Given the description of an element on the screen output the (x, y) to click on. 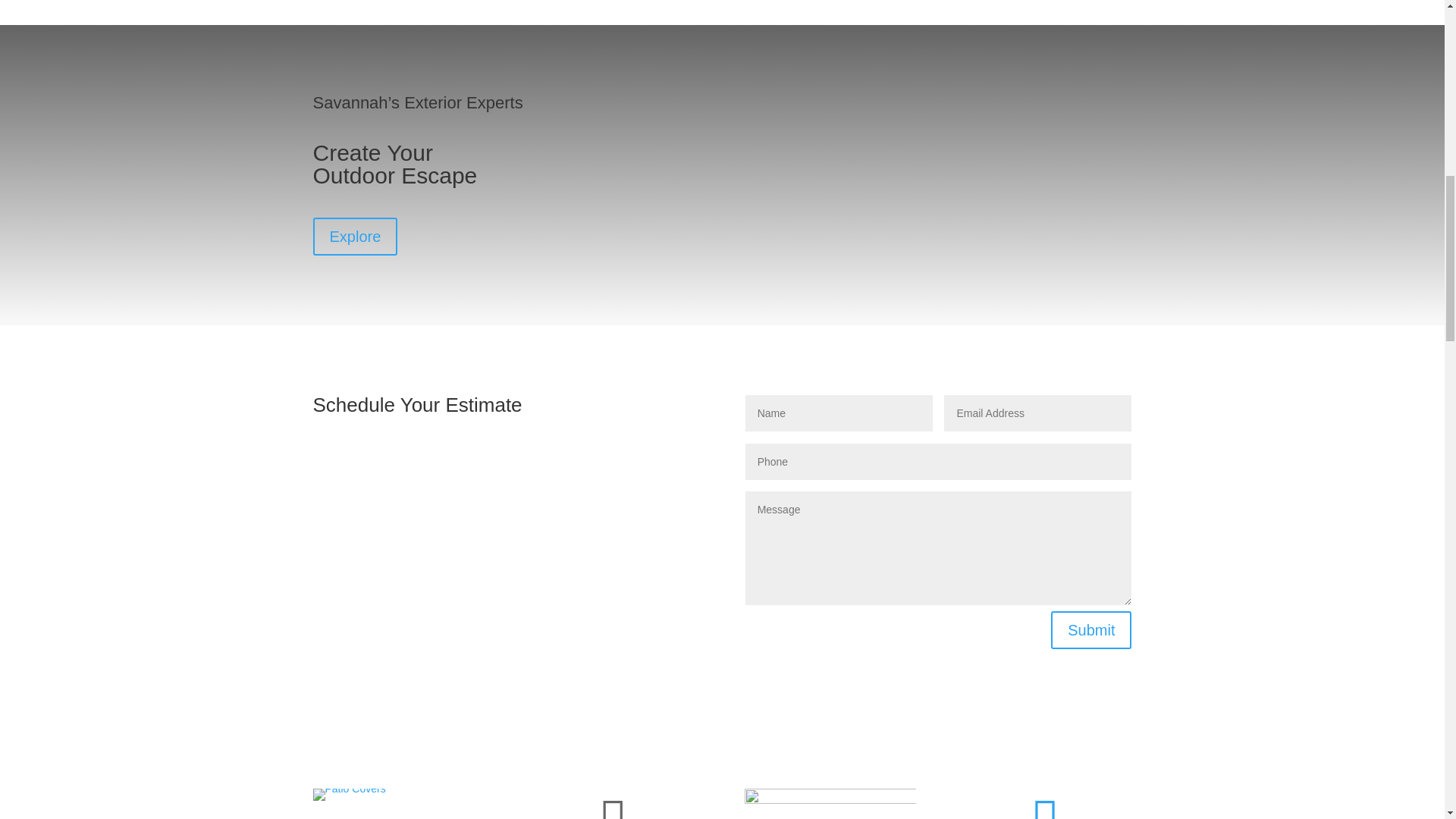
home-remodelling-63 (349, 794)
Explore (355, 236)
Submit (1091, 629)
home-remodelling-64 (829, 803)
